Given the description of an element on the screen output the (x, y) to click on. 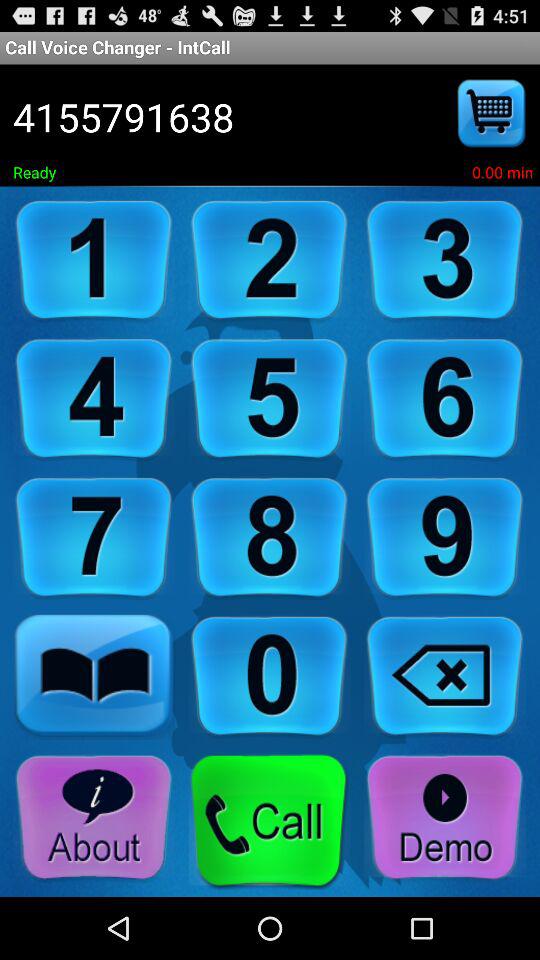
keypad numbering (94, 538)
